Given the description of an element on the screen output the (x, y) to click on. 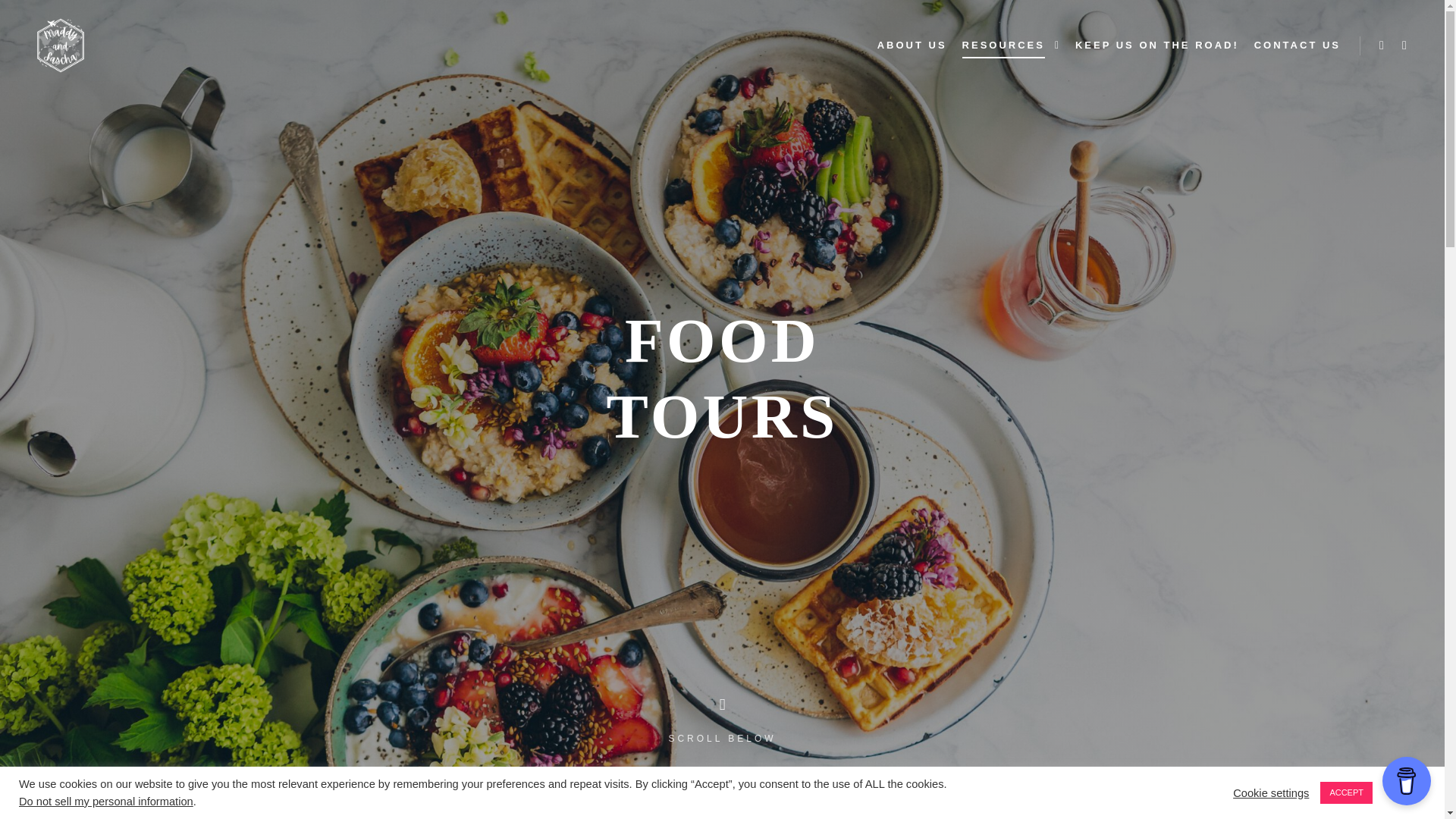
KEEP US ON THE ROAD! (1156, 45)
Instagram (1381, 45)
CONTACT US (1297, 45)
ACCEPT (1346, 792)
Cookie settings (1270, 792)
ABOUT US (912, 45)
RESOURCES (1001, 45)
Do not sell my personal information (105, 801)
YouTube (1403, 45)
